Given the description of an element on the screen output the (x, y) to click on. 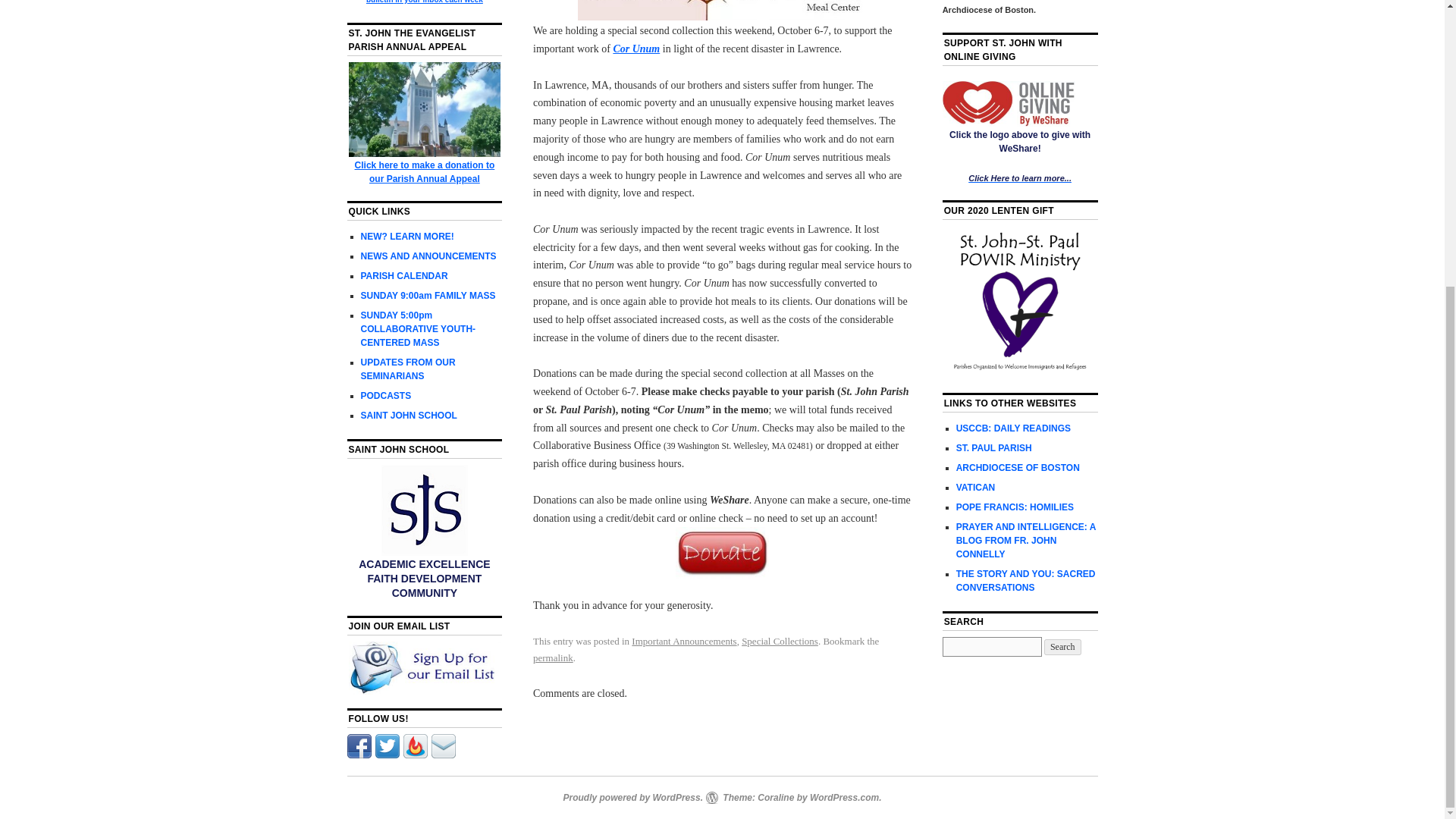
Subscribe to RSS Feed (415, 755)
Connect on Facebook (359, 755)
Follow stjohnwellesley on Twitter (386, 755)
A Semantic Personal Publishing Platform (632, 797)
Subscribe to posts via Email (442, 755)
Search (1062, 647)
